Given the description of an element on the screen output the (x, y) to click on. 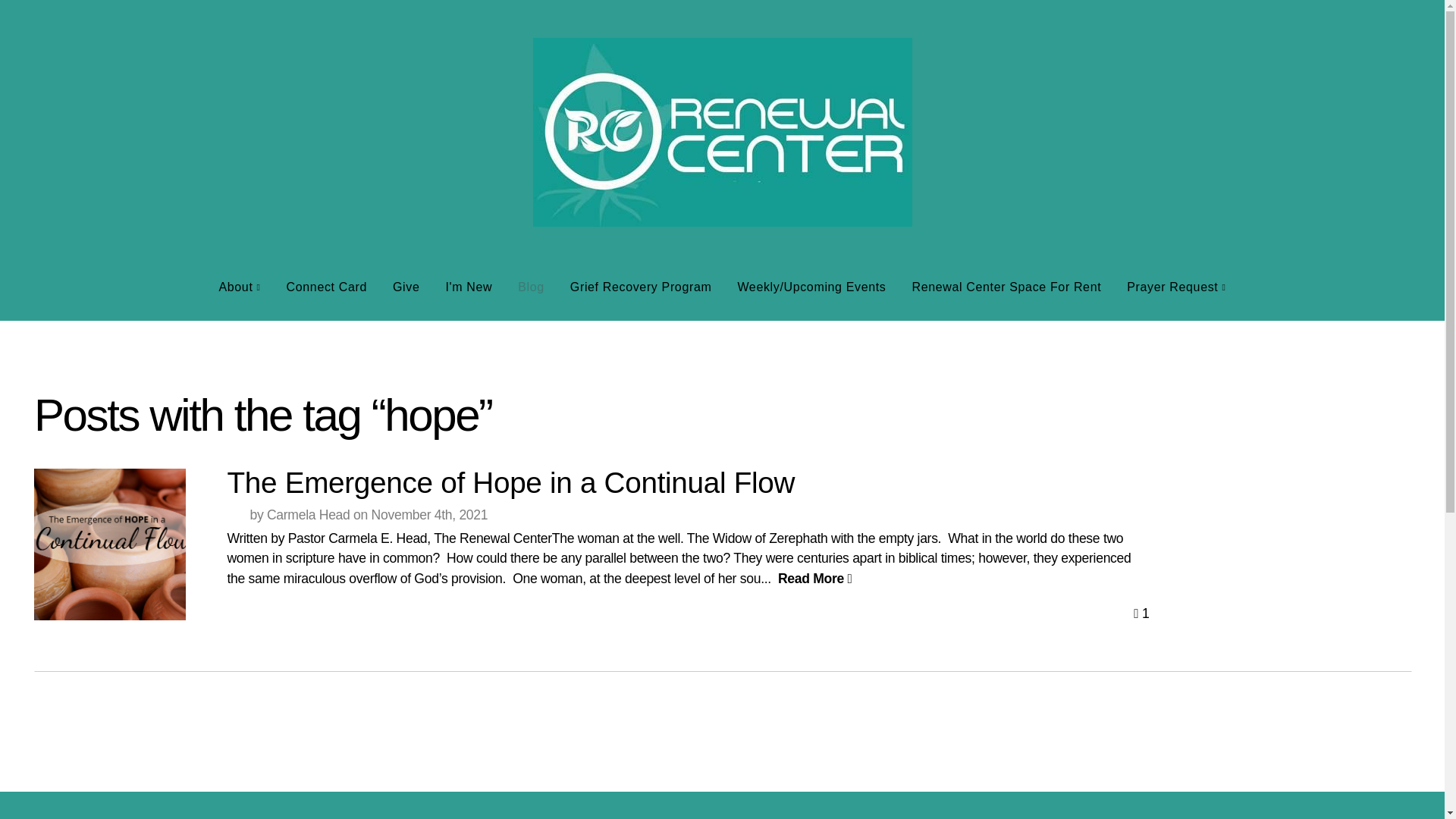
Grief Recovery Program (641, 287)
Give (405, 287)
Prayer Request  (1175, 287)
Connect Card (326, 287)
Blog (531, 287)
About  (238, 287)
I'm New (468, 287)
Renewal Center Space For Rent (1007, 287)
